Given the description of an element on the screen output the (x, y) to click on. 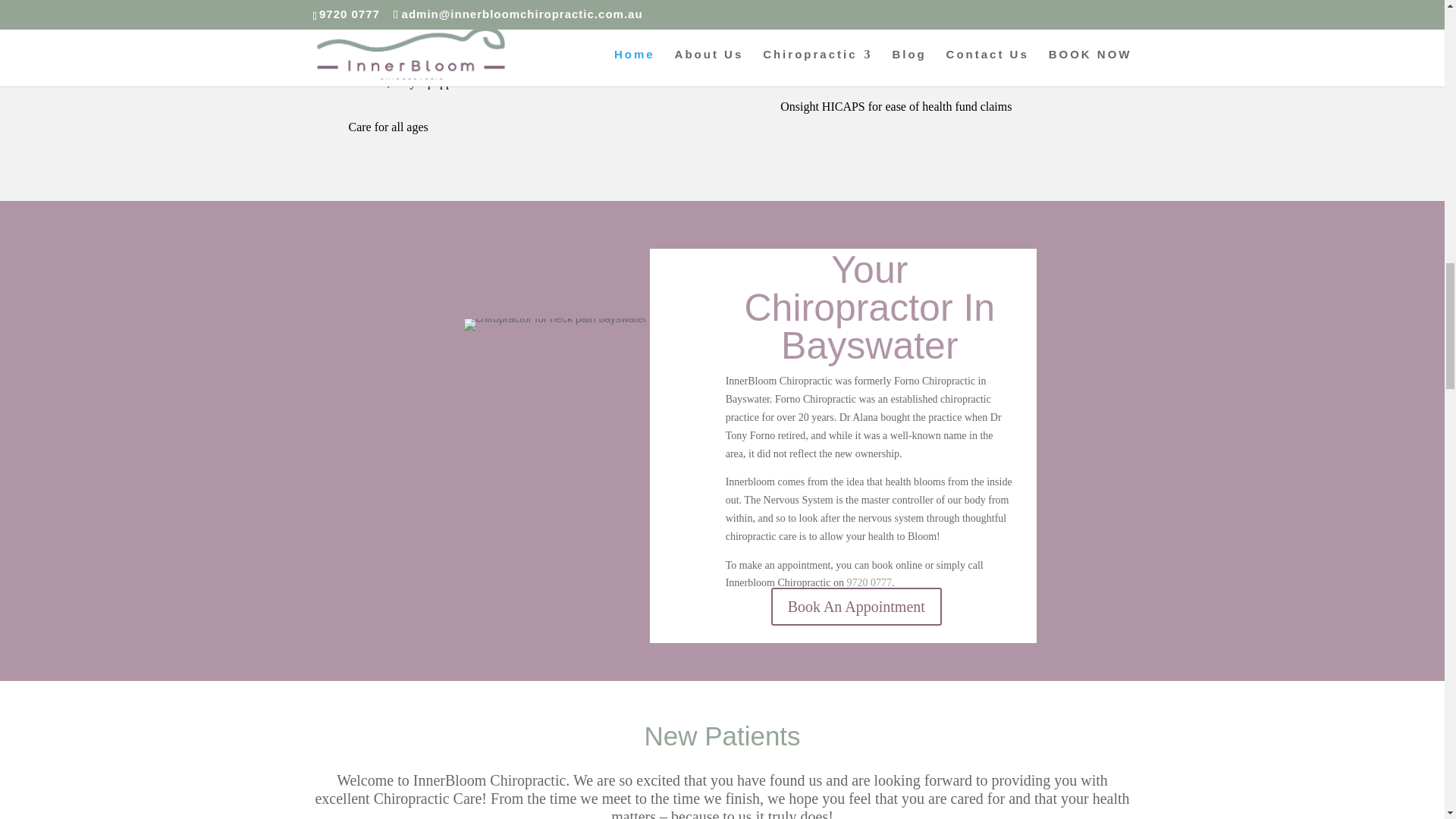
Book An Appointment (856, 606)
9720 0777 (868, 582)
chiropractor for neck pain bayswater (555, 324)
